Given the description of an element on the screen output the (x, y) to click on. 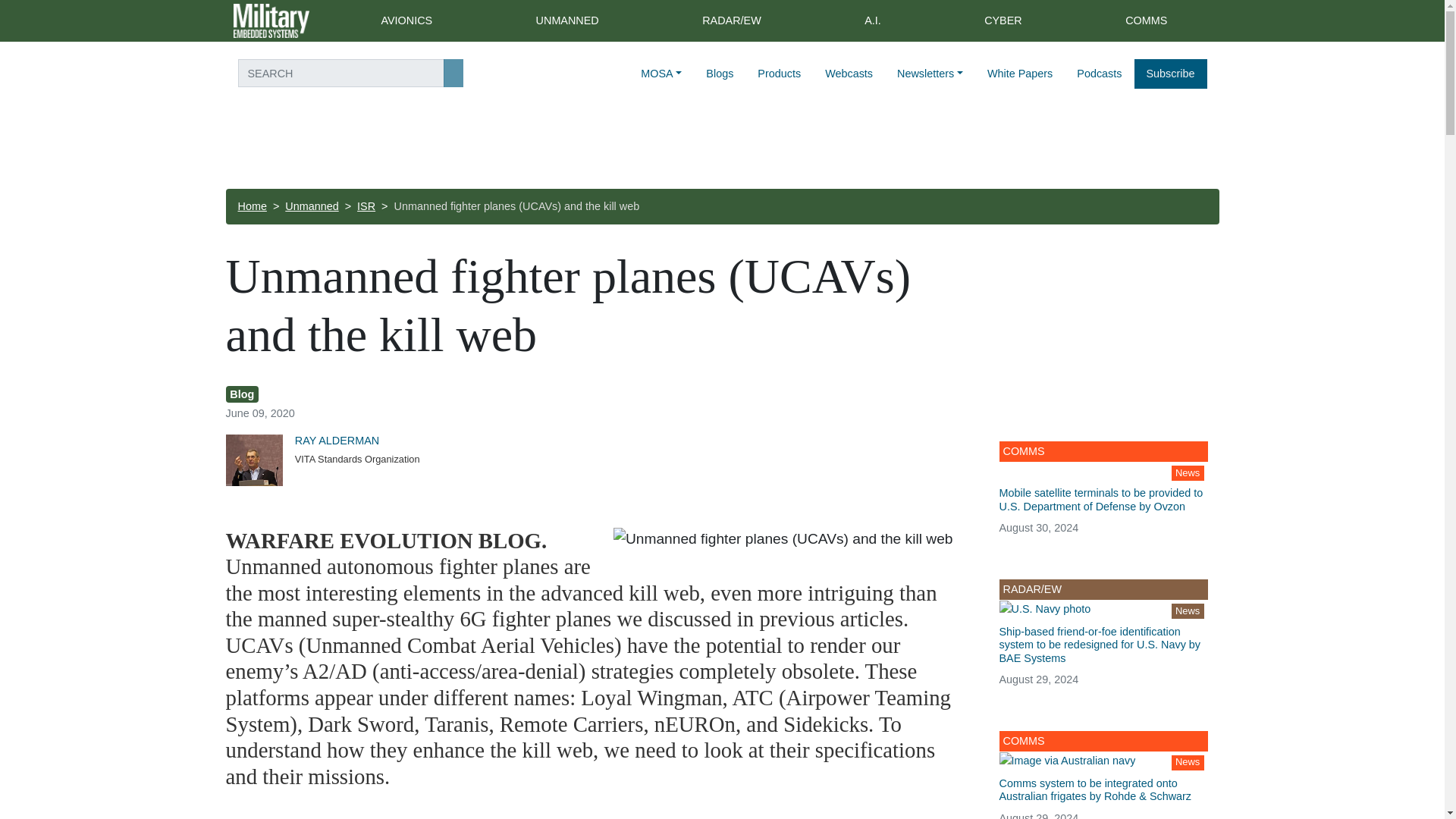
A.I. (872, 20)
CYBER (1003, 20)
COMMS (1147, 20)
UNMANNED (566, 20)
AVIONICS (406, 20)
